Given the description of an element on the screen output the (x, y) to click on. 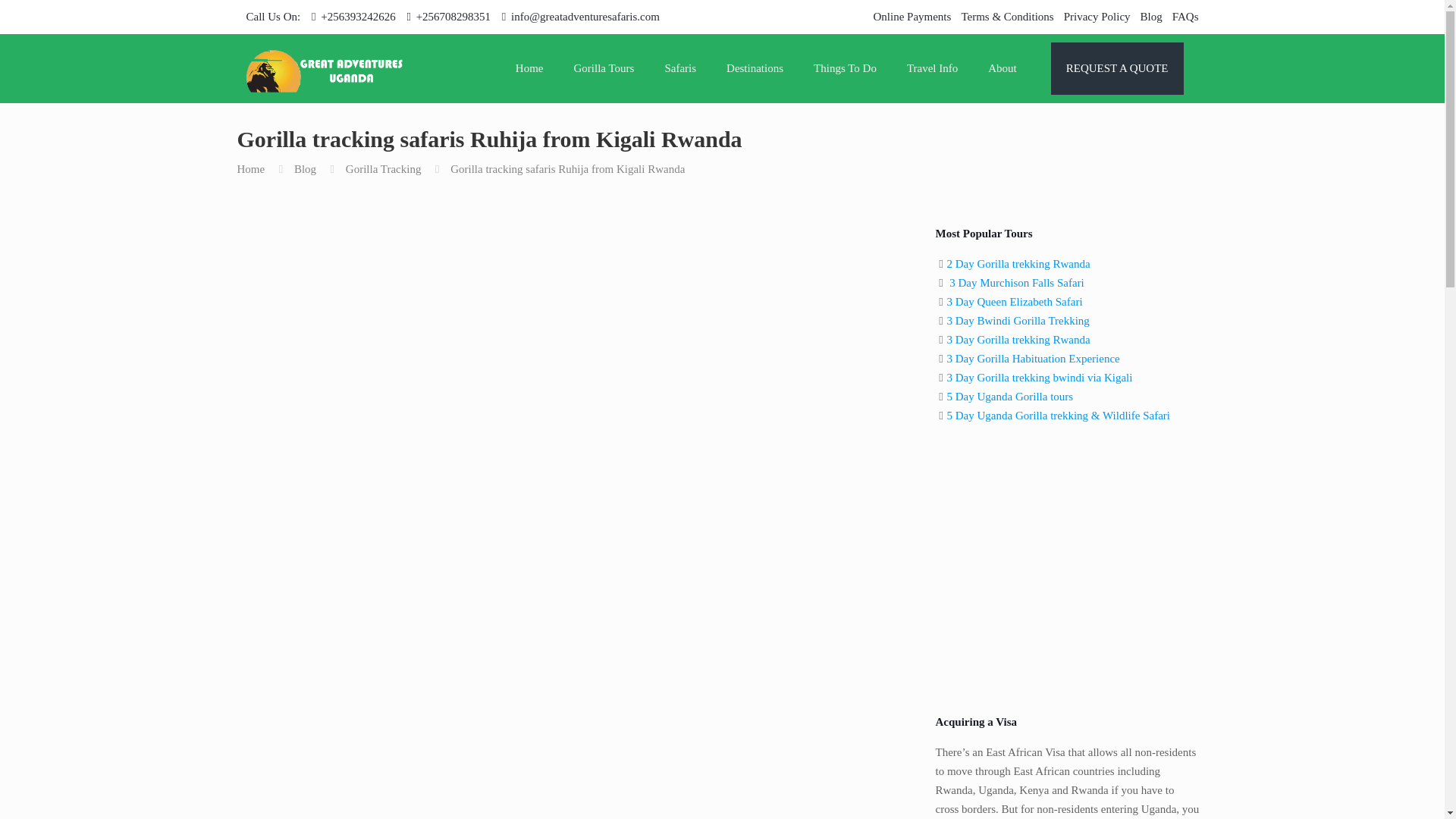
Great Adventures Safaris (324, 68)
Destinations (754, 68)
Online Payments (911, 16)
Blog (1150, 16)
Privacy Policy (1097, 16)
FAQs (1185, 16)
Gorilla Tours (603, 68)
Safaris (680, 68)
